Given the description of an element on the screen output the (x, y) to click on. 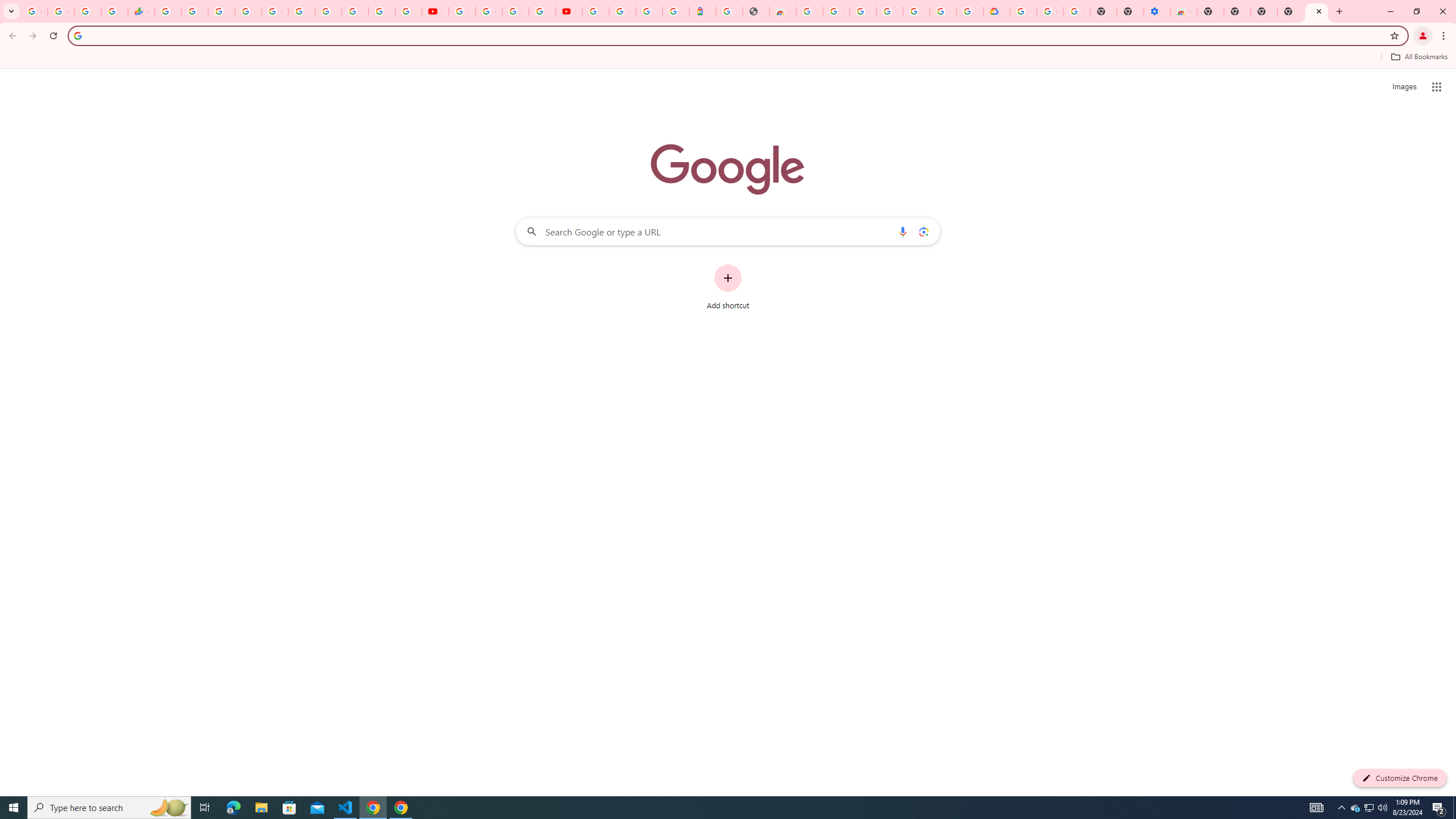
New Tab (1290, 11)
Sign in - Google Accounts (1023, 11)
Add shortcut (727, 287)
New Tab (1210, 11)
Privacy Checkup (408, 11)
Content Creator Programs & Opportunities - YouTube Creators (569, 11)
